Given the description of an element on the screen output the (x, y) to click on. 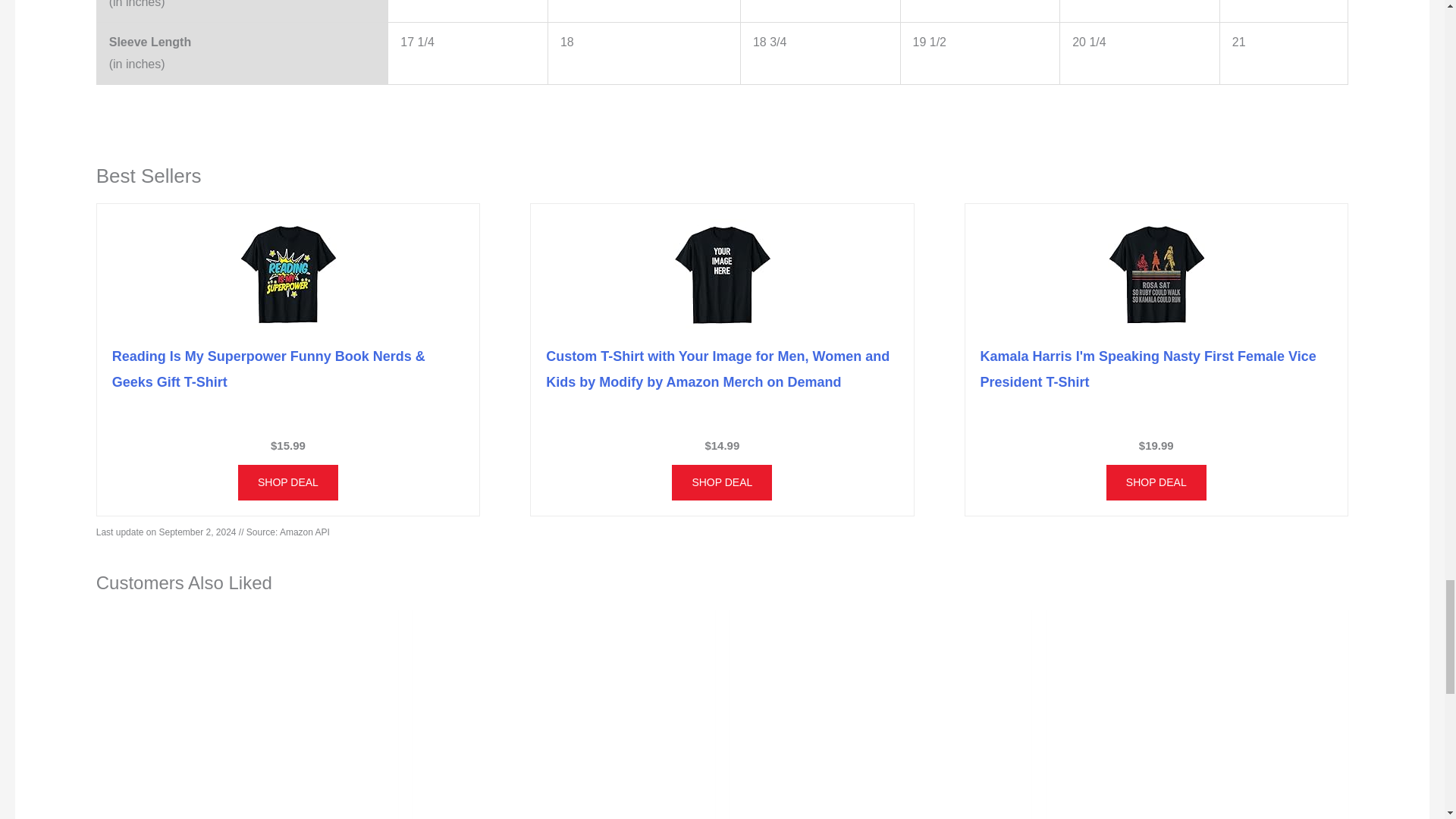
SHOP DEAL (287, 482)
